Given the description of an element on the screen output the (x, y) to click on. 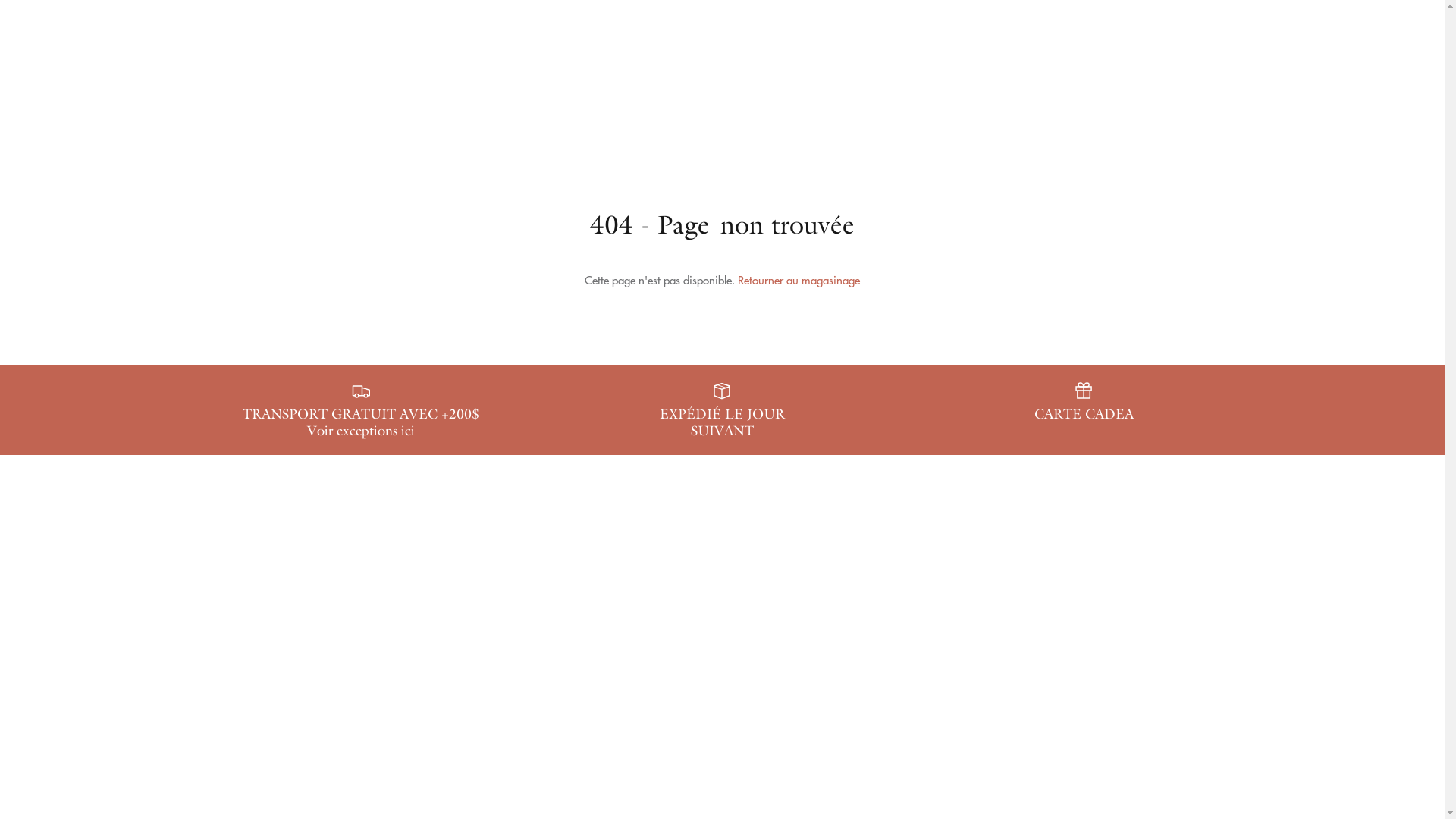
CARTE CADEA Element type: text (1083, 401)
Retourner au magasinage Element type: text (798, 279)
TRANSPORT GRATUIT AVEC +200$
Voir exceptions ici Element type: text (360, 409)
